Given the description of an element on the screen output the (x, y) to click on. 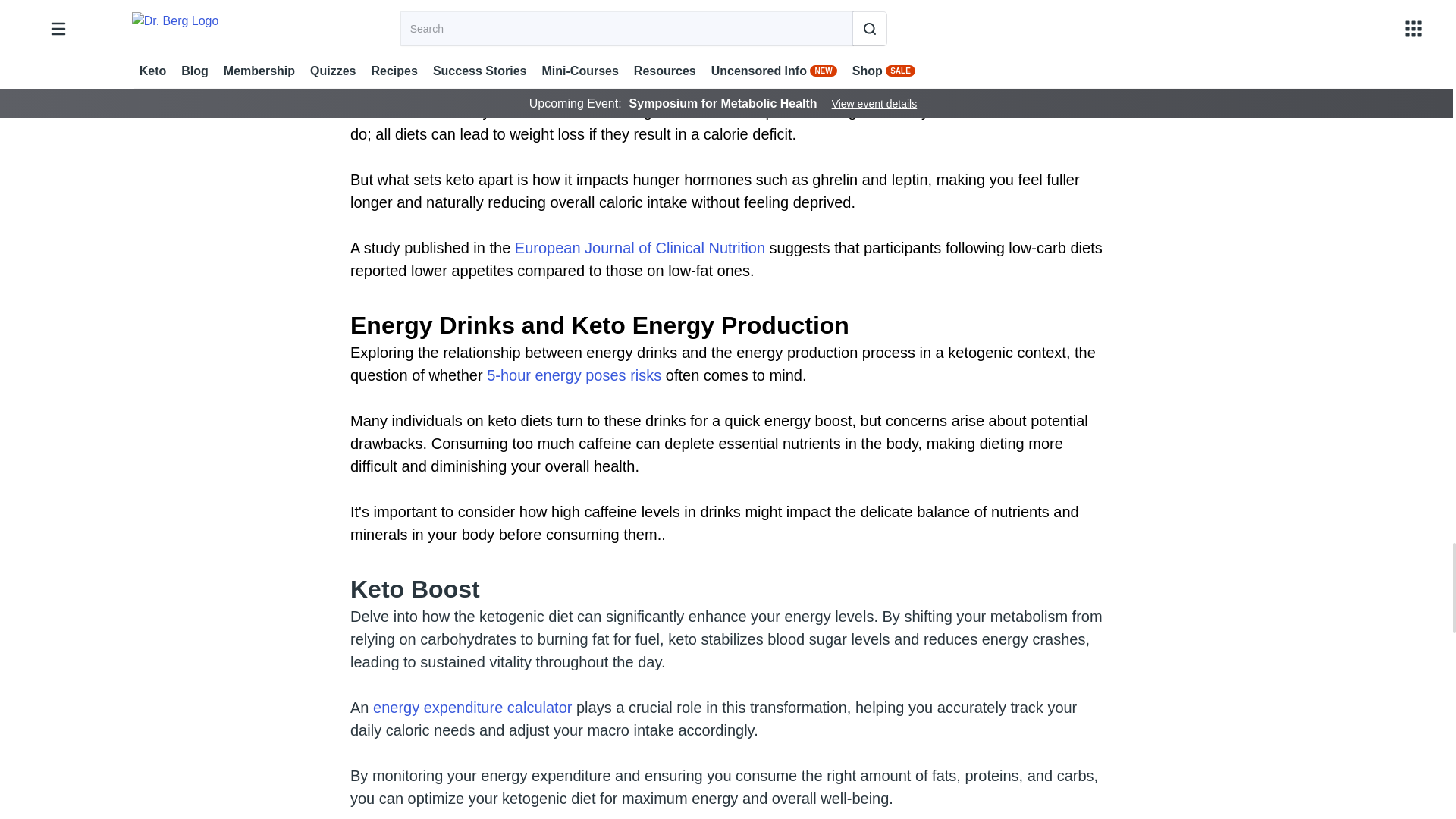
energy expenditure calculator (470, 707)
5-hour energy poses risks (573, 375)
European Journal of Clinical Nutrition (640, 247)
